Given the description of an element on the screen output the (x, y) to click on. 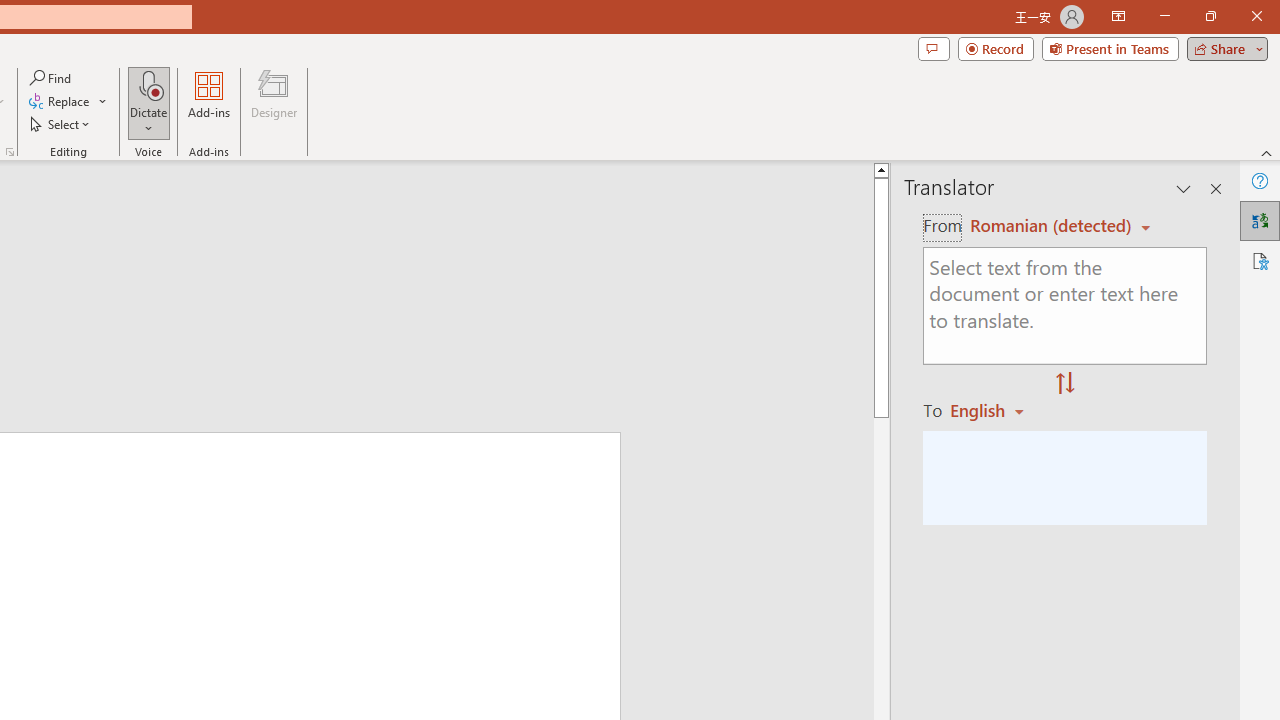
Romanian (detected) (1047, 225)
